Given the description of an element on the screen output the (x, y) to click on. 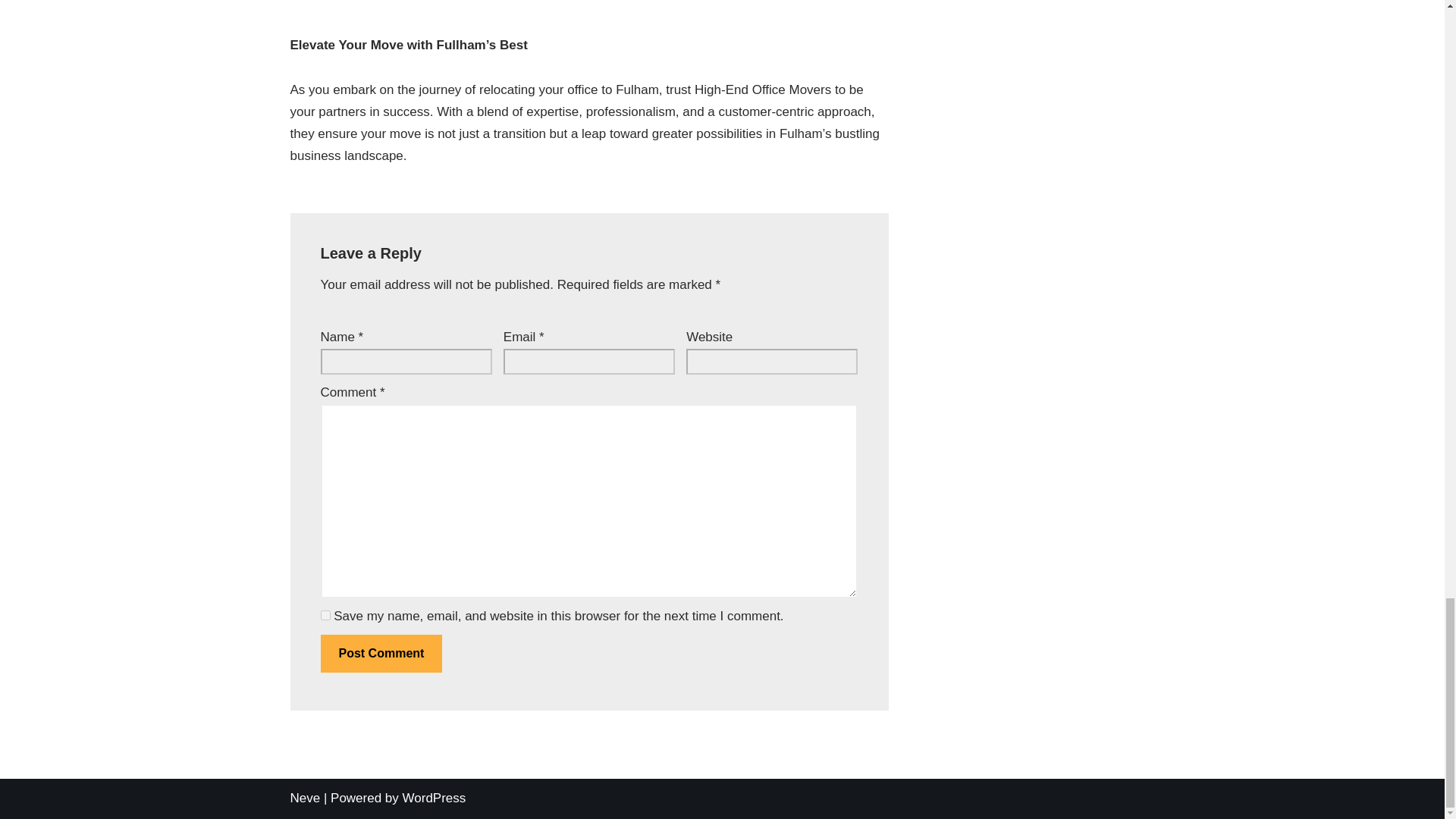
yes (325, 614)
WordPress (434, 798)
Neve (304, 798)
Post Comment (381, 653)
Post Comment (381, 653)
